Given the description of an element on the screen output the (x, y) to click on. 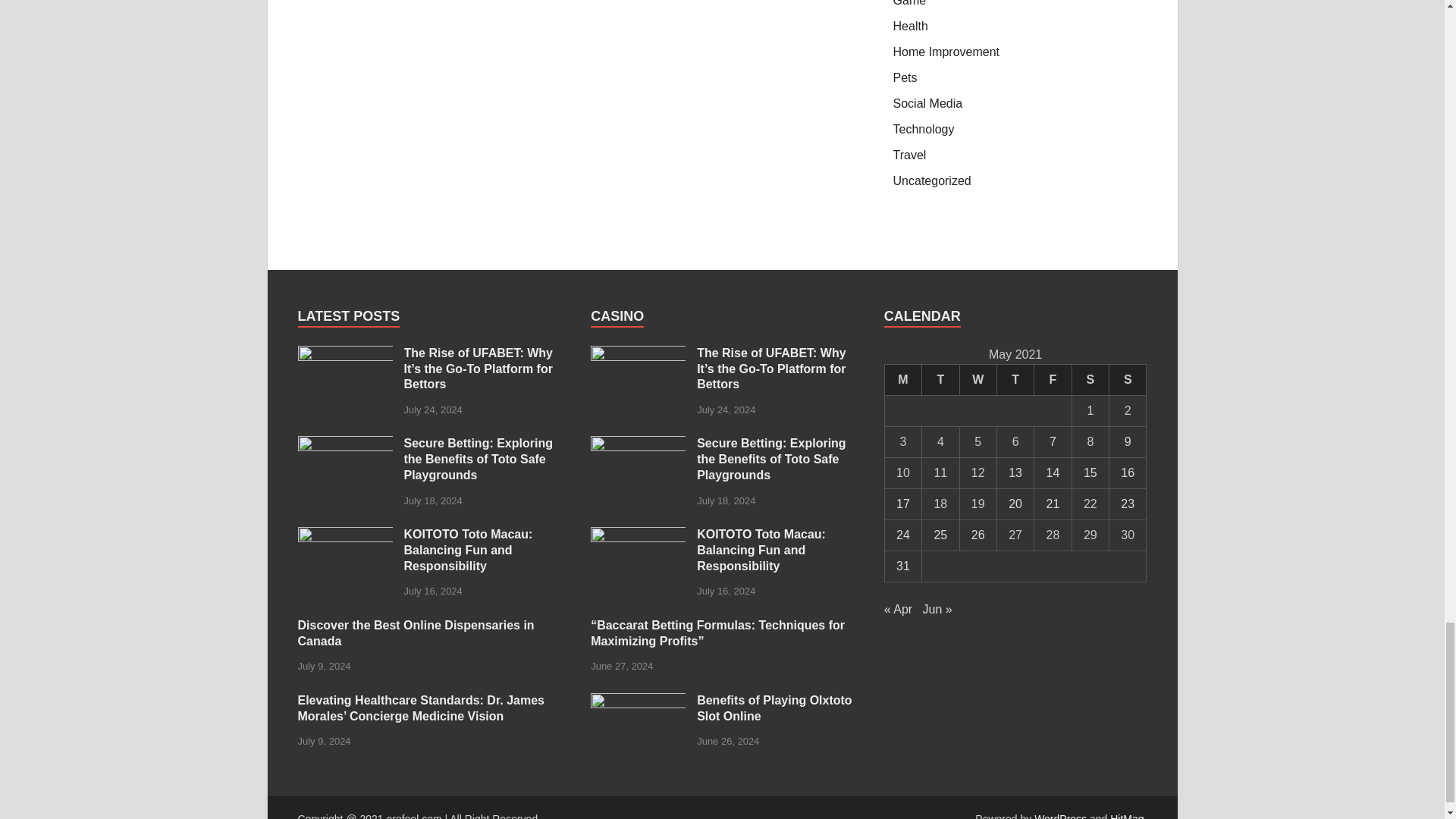
KOITOTO Toto Macau: Balancing Fun and Responsibility (344, 535)
KOITOTO Toto Macau: Balancing Fun and Responsibility (638, 535)
